Given the description of an element on the screen output the (x, y) to click on. 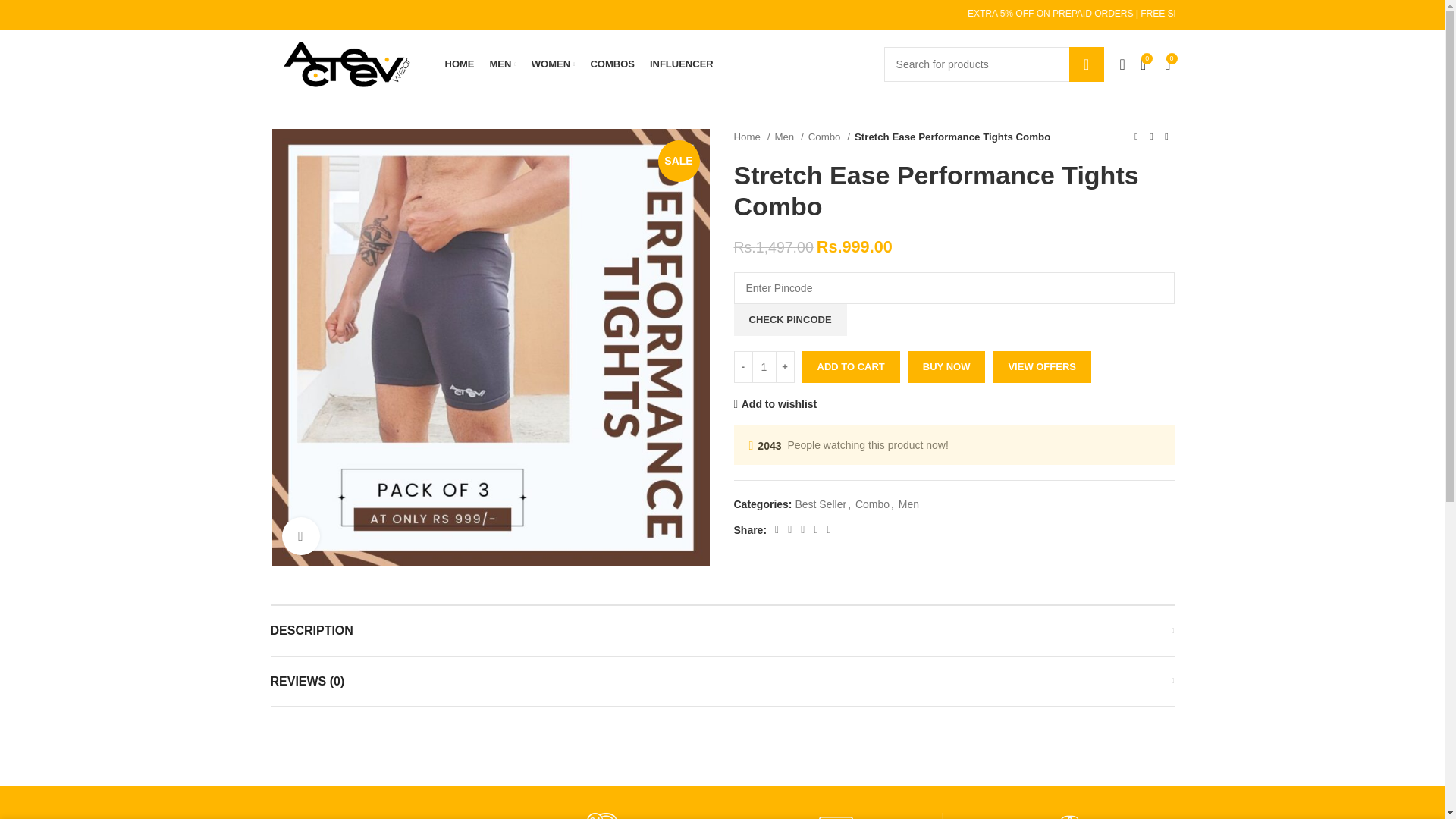
retail-free-shipping.png (374, 816)
Created with Fabric.js 3.5.0 (1070, 816)
Search for products (993, 63)
retail-247-1.png (605, 816)
WOMEN (553, 64)
SEARCH (1085, 63)
INFLUENCER (681, 64)
COMBOS (611, 64)
HOME (459, 64)
